Given the description of an element on the screen output the (x, y) to click on. 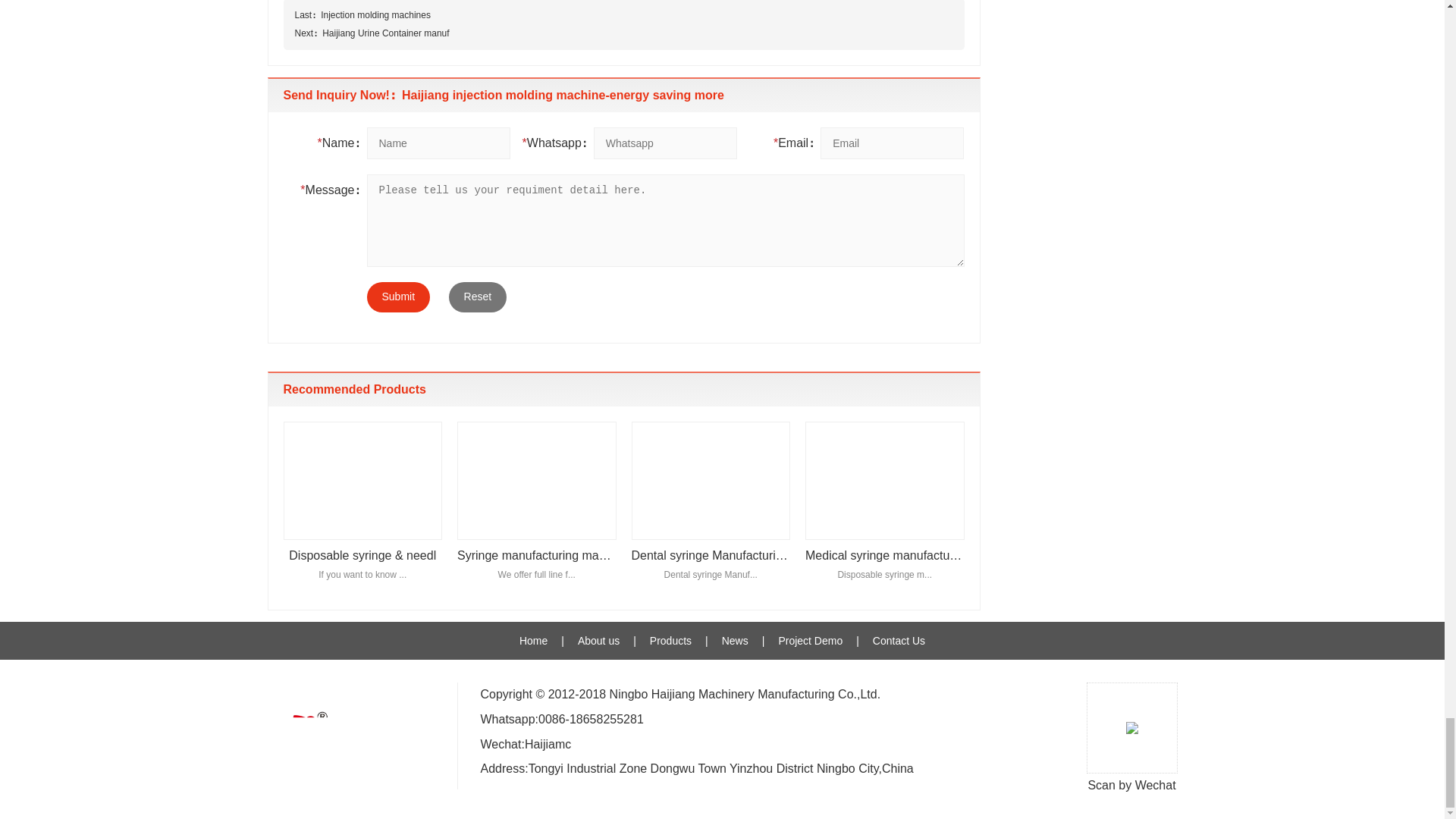
Syringe manufacturing machine  (536, 507)
Dental syringe Manufacturing M (710, 507)
